Given the description of an element on the screen output the (x, y) to click on. 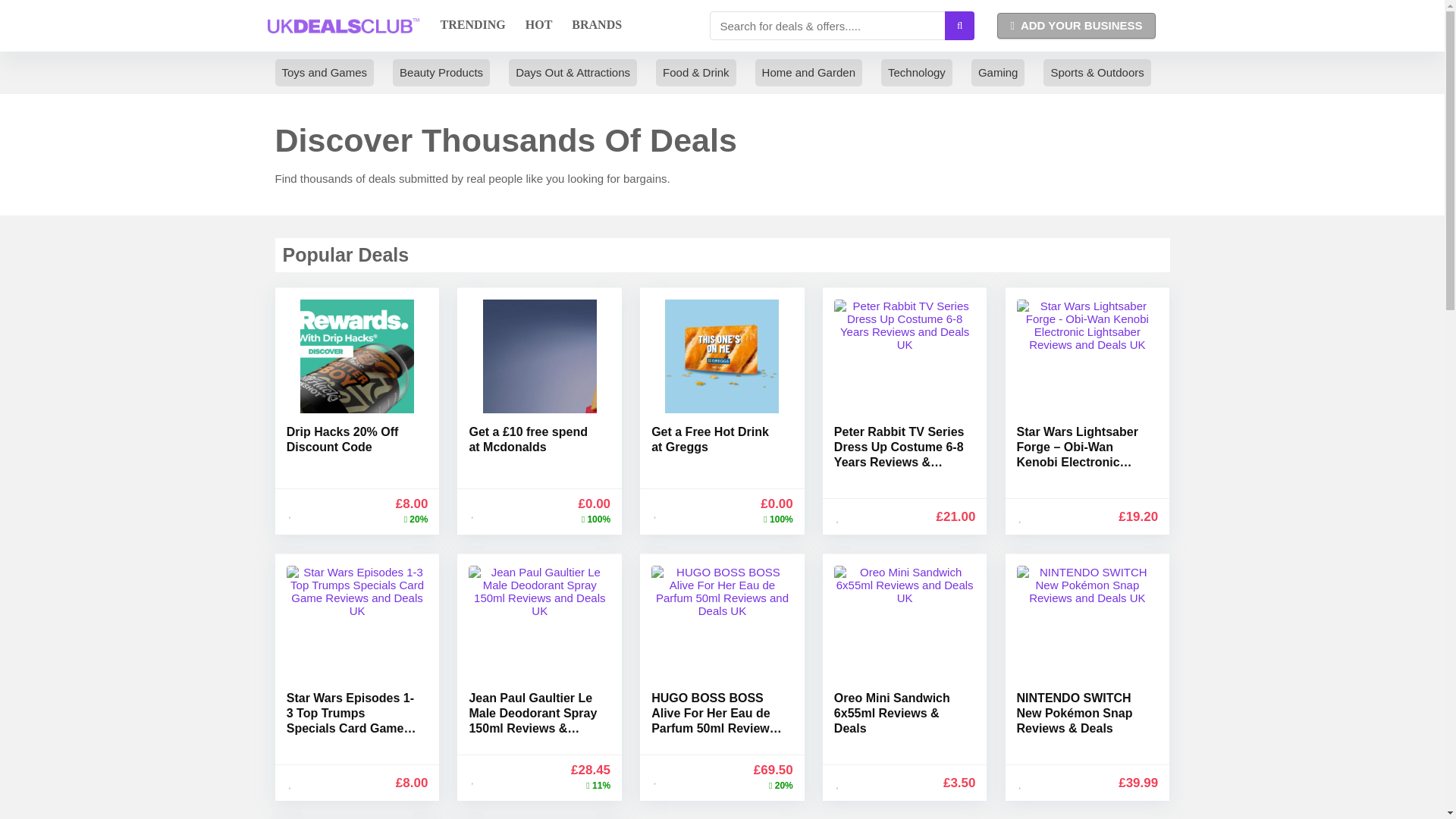
Toys and Games (324, 72)
Technology (916, 72)
BRANDS (596, 25)
Office Supplies (1215, 72)
Vape Deals (1313, 72)
Get a Free Hot Drink at Greggs (709, 439)
Trending UK Deals and reviews (472, 25)
HOT (538, 25)
UK Vape Deals (1313, 72)
Home and Garden (808, 72)
